Given the description of an element on the screen output the (x, y) to click on. 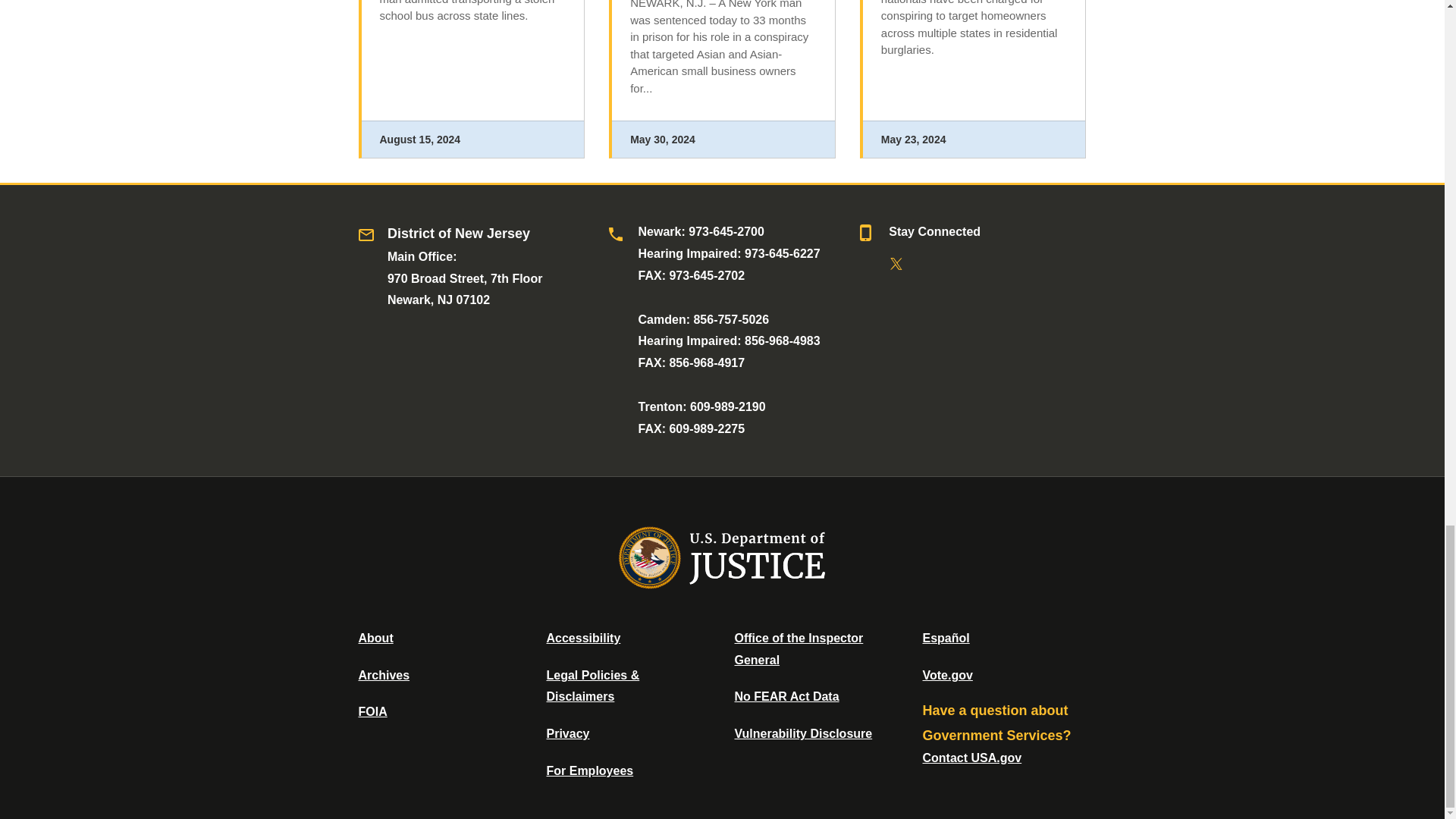
Legal Policies and Disclaimers (592, 686)
Department of Justice Archive (383, 675)
Data Posted Pursuant To The No Fear Act (785, 696)
About DOJ (375, 637)
Accessibility Statement (583, 637)
Office of Information Policy (372, 711)
For Employees (589, 770)
